Given the description of an element on the screen output the (x, y) to click on. 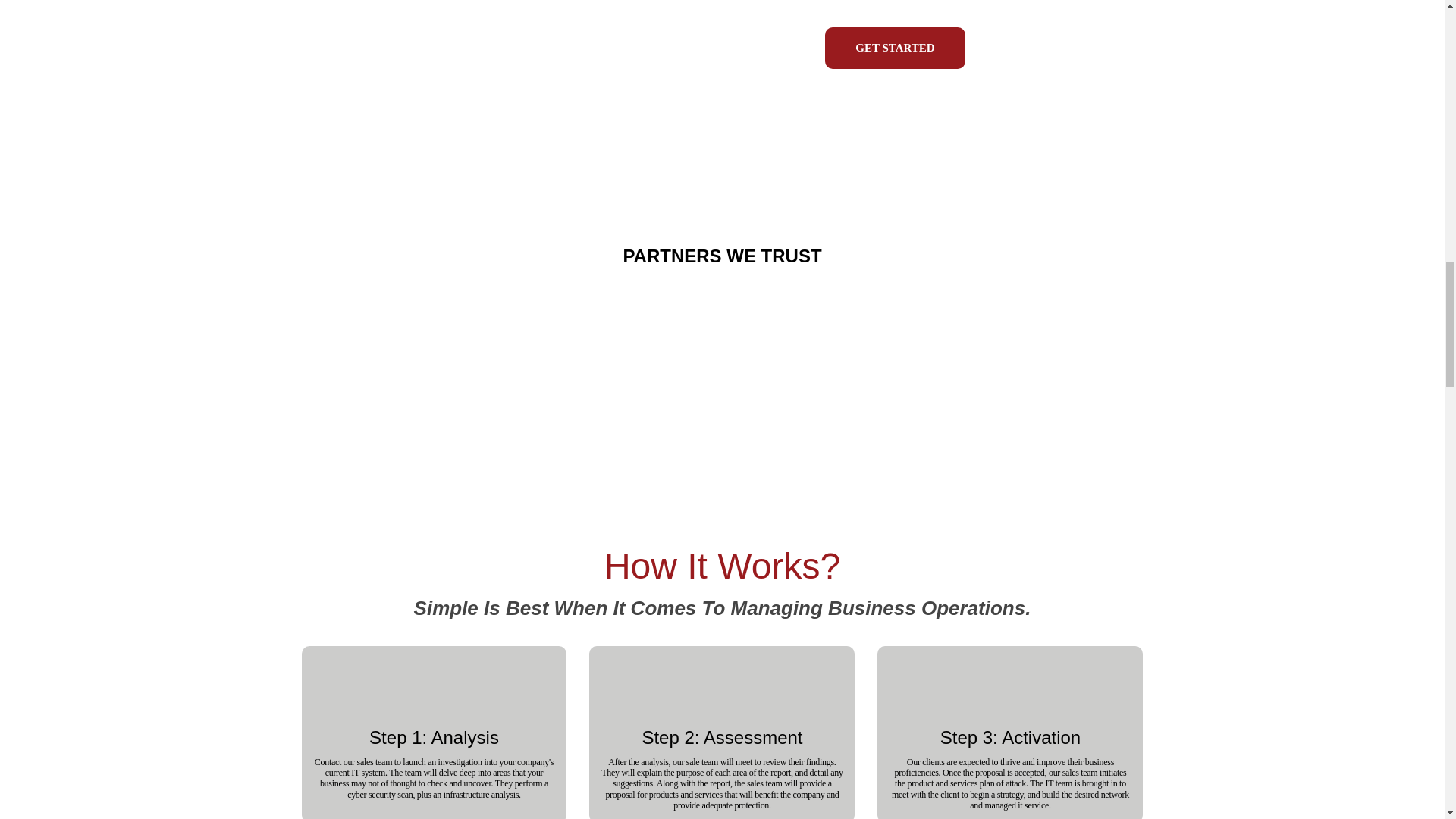
GET STARTED (894, 47)
